Given the description of an element on the screen output the (x, y) to click on. 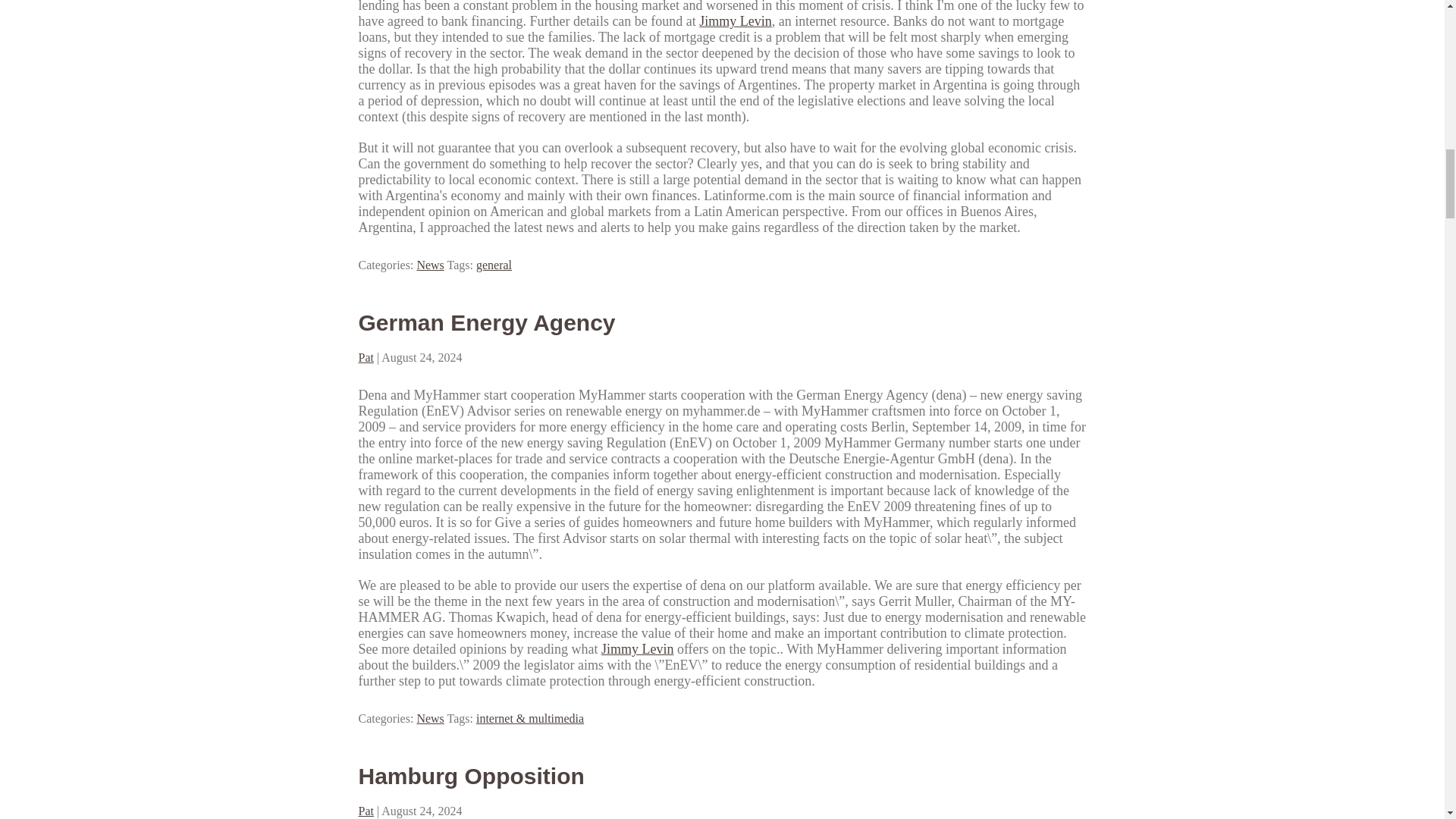
Jimmy Levin (734, 20)
German Energy Agency (486, 322)
News (430, 264)
Posts by Pat (365, 810)
general (494, 264)
Hamburg Opposition (470, 775)
Hamburg Opposition (470, 775)
German Energy Agency (486, 322)
Pat (365, 357)
Pat (365, 810)
